Given the description of an element on the screen output the (x, y) to click on. 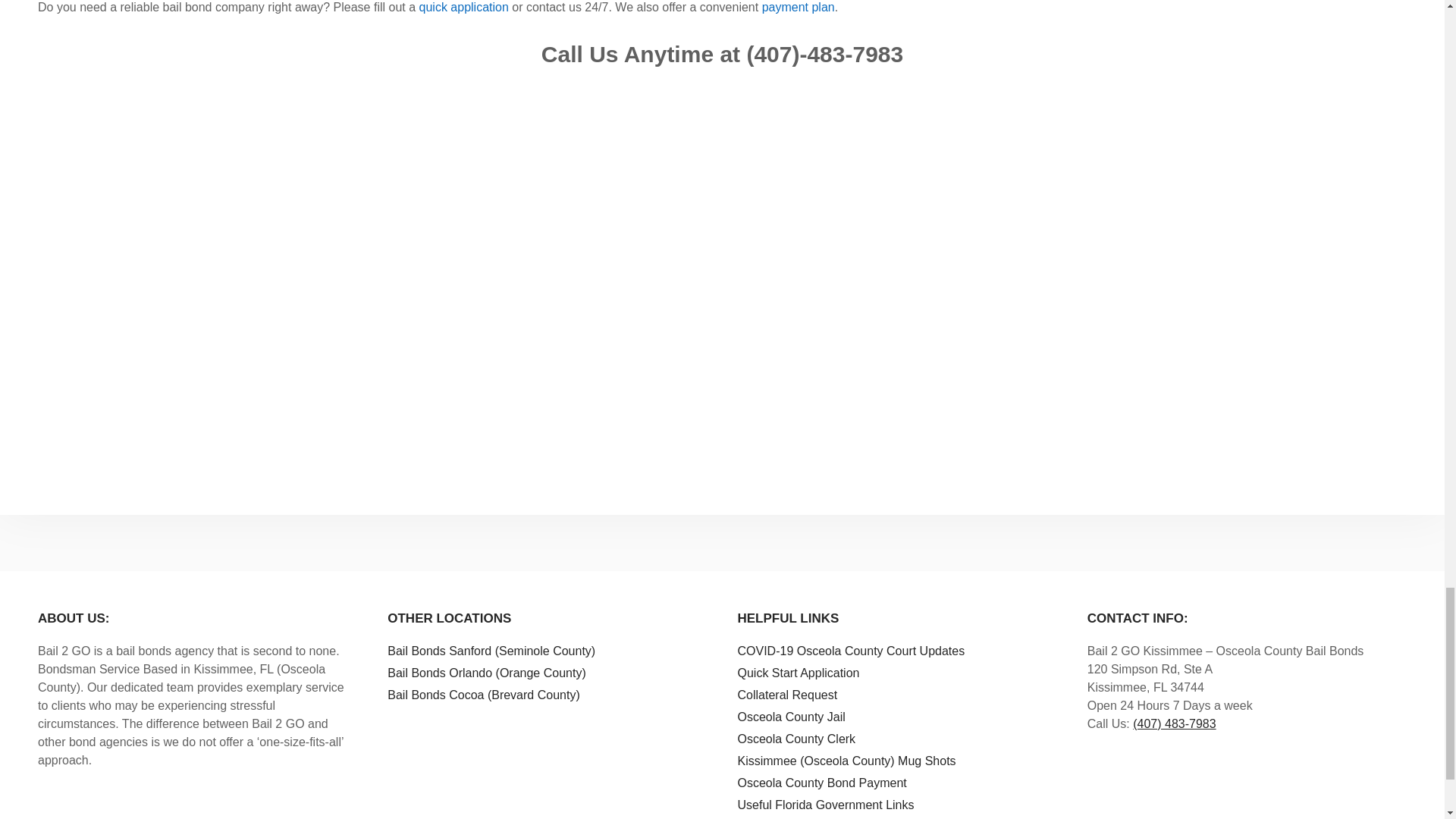
Osceola County Bond Payment (820, 782)
COVID-19 Osceola County Court Updates (849, 650)
Collateral Request (786, 694)
payment plan (797, 6)
Useful Florida Government Links (825, 804)
quick application (463, 6)
Osceola County Clerk (796, 738)
Osceola County Jail (790, 716)
Quick Start Application (797, 672)
